Given the description of an element on the screen output the (x, y) to click on. 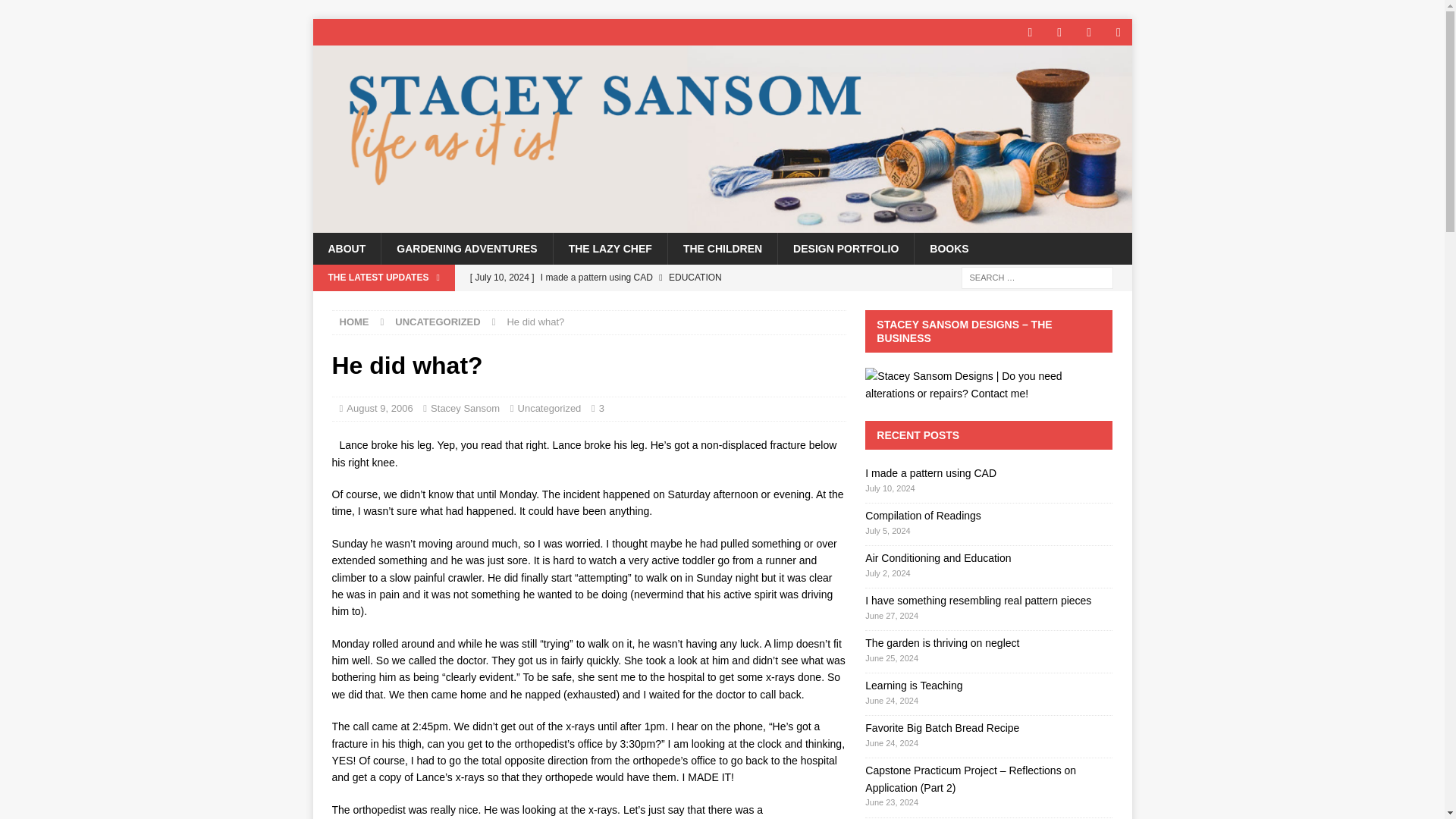
THE CHILDREN (721, 248)
Stacey Sansom (722, 223)
UNCATEGORIZED (437, 321)
ABOUT (346, 248)
Search (56, 11)
GARDENING ADVENTURES (465, 248)
I made a pattern using CAD (653, 277)
HOME (354, 321)
DESIGN PORTFOLIO (845, 248)
THE LAZY CHEF (609, 248)
Compilation of Readings (653, 303)
August 9, 2006 (379, 408)
Stacey Sansom (464, 408)
Uncategorized (549, 408)
BOOKS (949, 248)
